Given the description of an element on the screen output the (x, y) to click on. 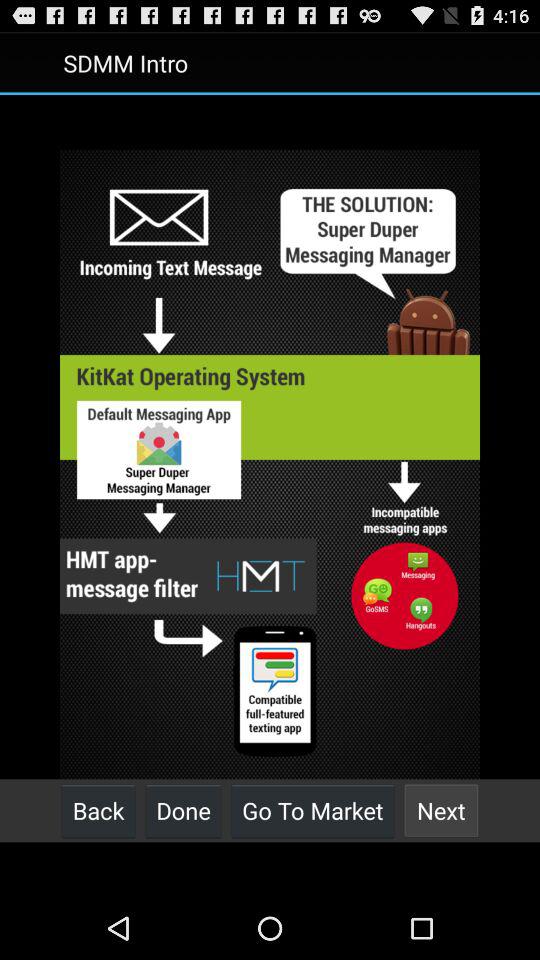
launch done item (183, 810)
